Given the description of an element on the screen output the (x, y) to click on. 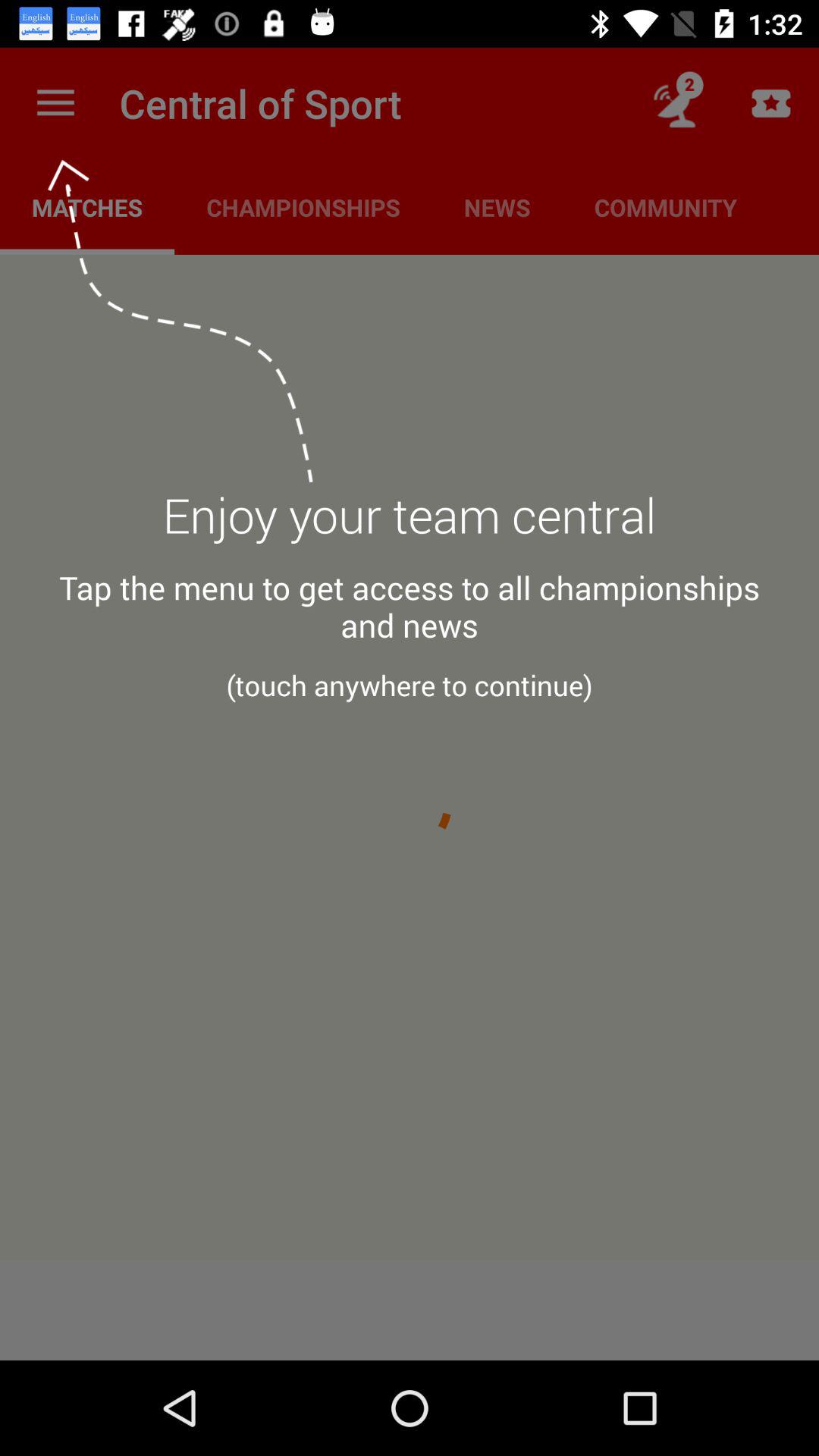
swipe to enjoy your team icon (409, 524)
